Given the description of an element on the screen output the (x, y) to click on. 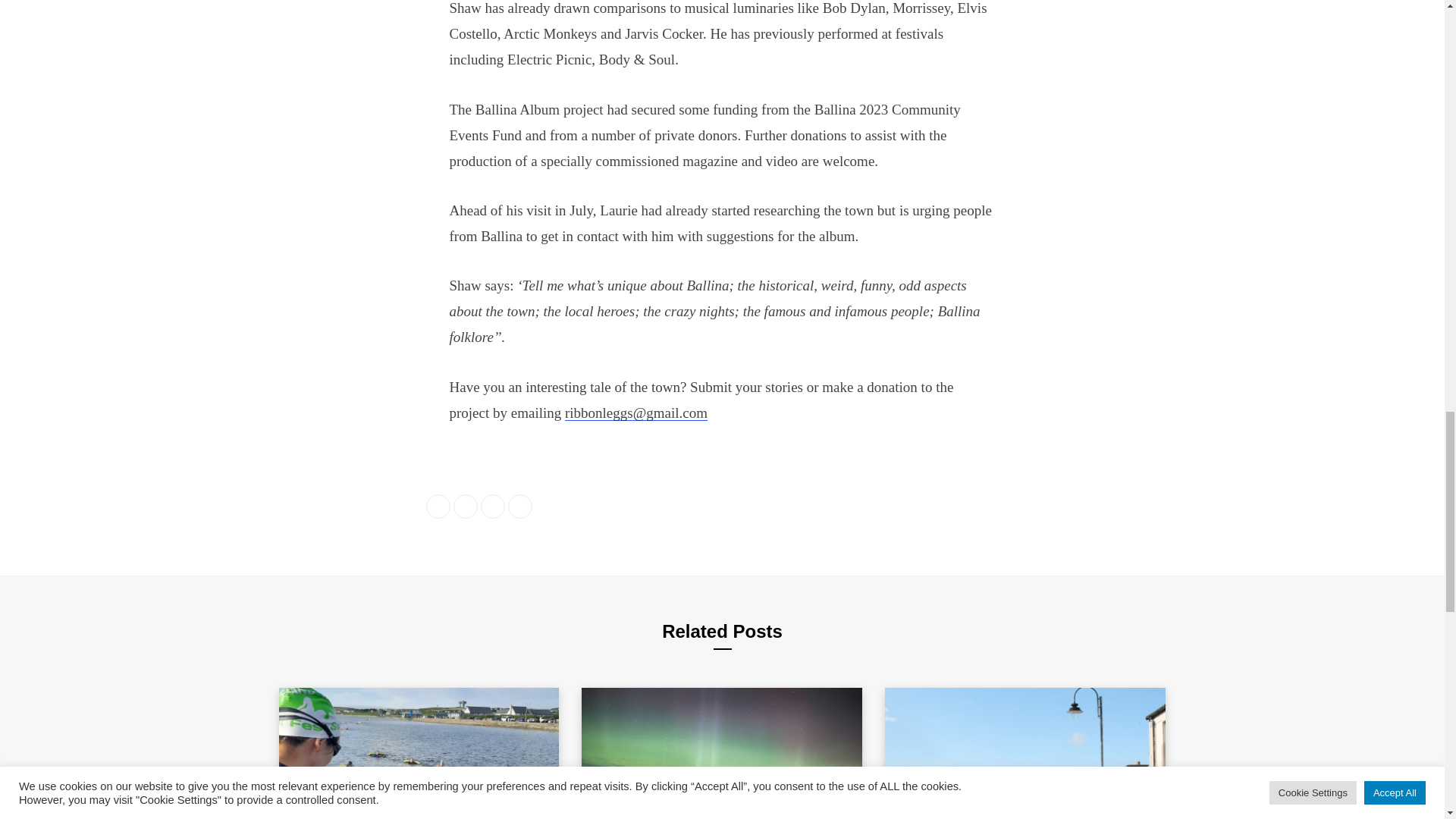
Share on Twitter (464, 506)
LinkedIn (492, 506)
Share on Facebook (437, 506)
Pinterest (520, 506)
